Given the description of an element on the screen output the (x, y) to click on. 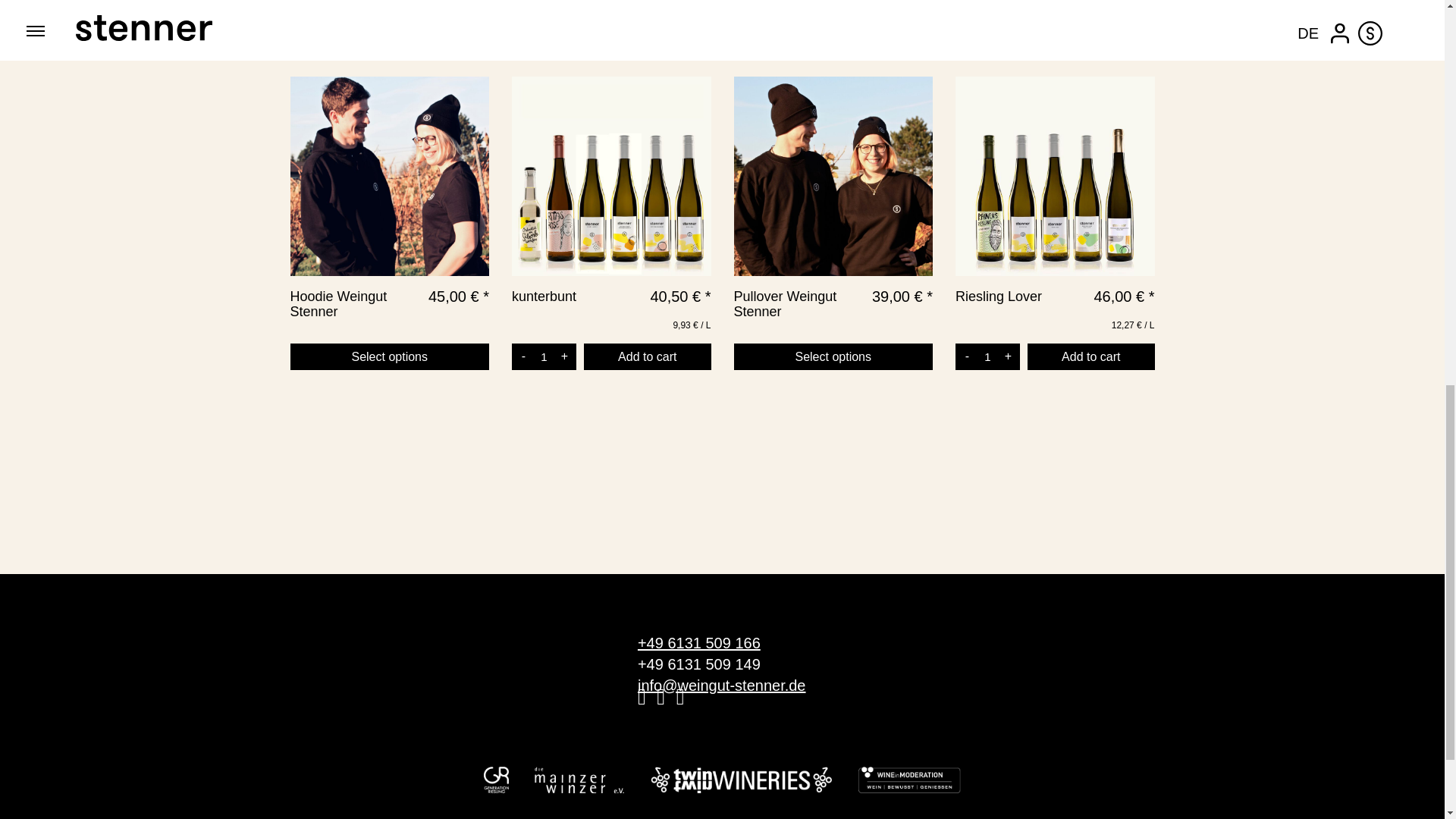
Add to cart (1090, 356)
Qty (543, 356)
- (523, 356)
Hoodie Weingut Stenner (355, 309)
Qty (987, 356)
Select options (389, 356)
Pullover Weingut Stenner (799, 309)
Add to cart (647, 356)
- (966, 356)
kunterbunt (561, 301)
Riesling Lover (1009, 301)
1 (987, 356)
Select options (833, 356)
1 (543, 356)
